Given the description of an element on the screen output the (x, y) to click on. 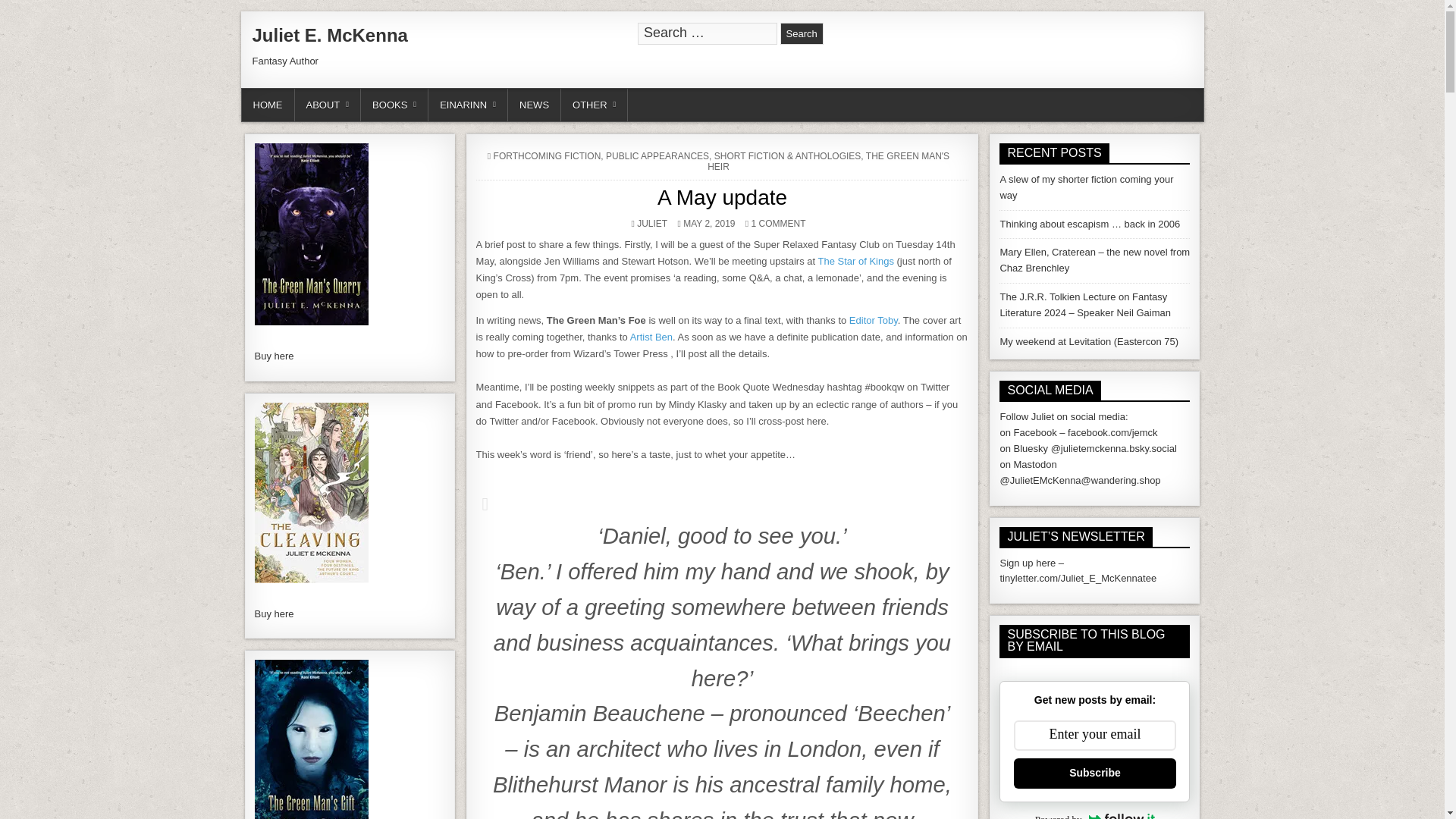
BOOKS (394, 104)
Juliet E. McKenna (329, 35)
Search (802, 33)
ABOUT (327, 104)
Search (802, 33)
HOME (267, 104)
Search (802, 33)
